Given the description of an element on the screen output the (x, y) to click on. 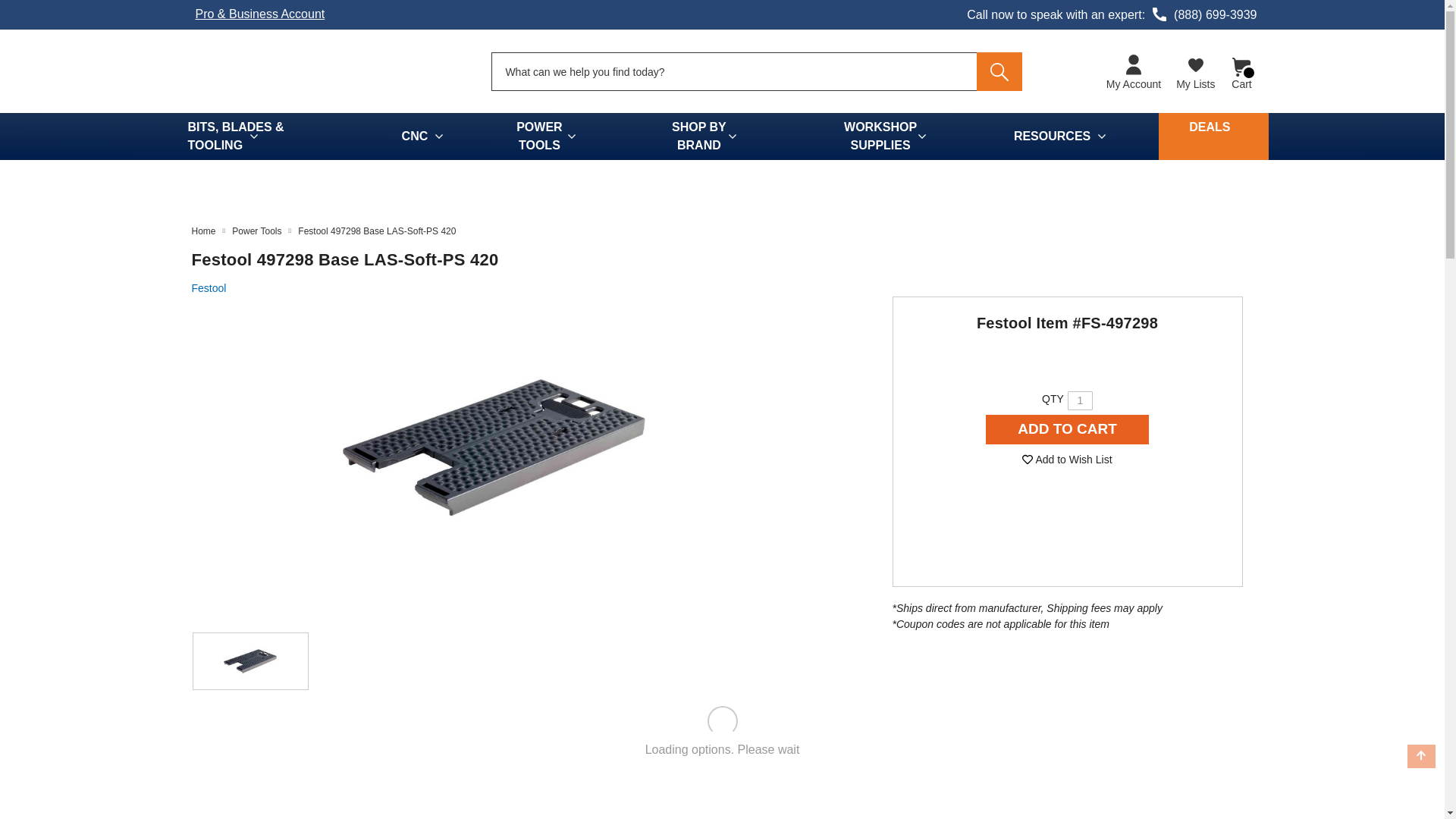
Festool 497298 Base LAS-Soft-PS 420 (250, 660)
My Lists (1195, 72)
1 (1080, 400)
Festool 497298 Base LAS-Soft-PS 420 (493, 447)
My Account (1134, 73)
Add to Cart (1067, 429)
Wish list items (1195, 72)
